Given the description of an element on the screen output the (x, y) to click on. 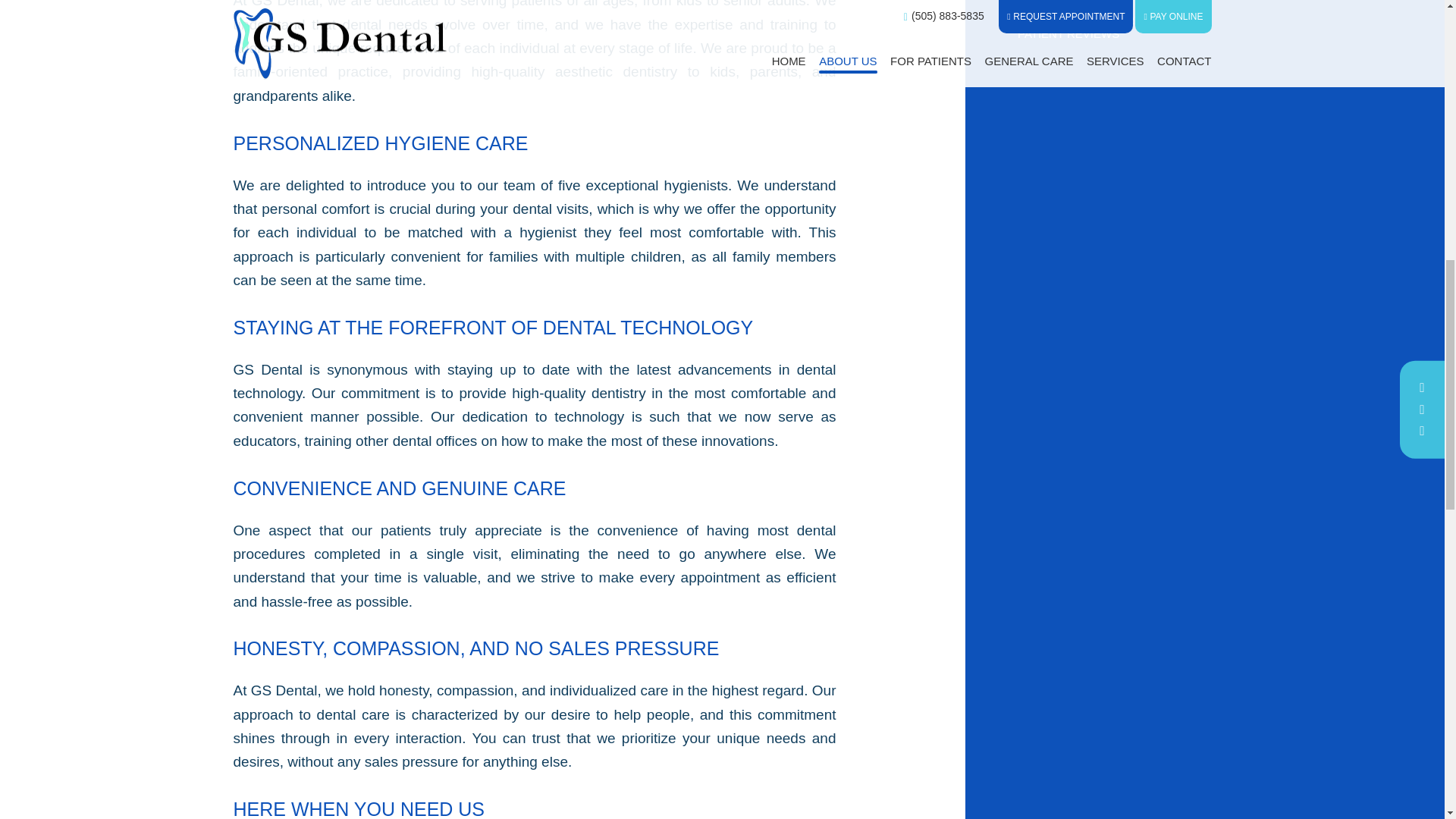
MEET THE TEAM (1101, 6)
WHAT SETS US APART (1101, 20)
